Given the description of an element on the screen output the (x, y) to click on. 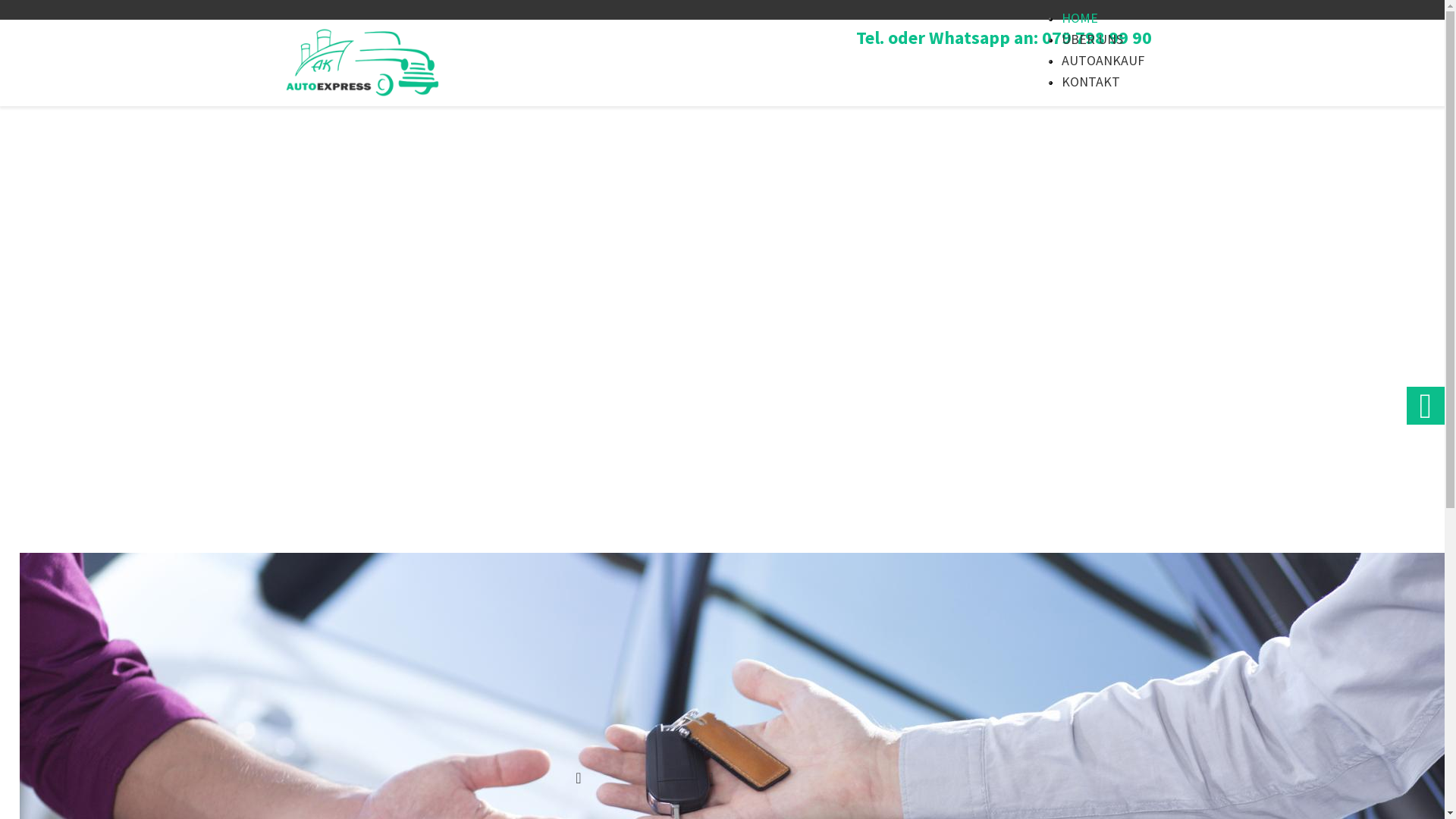
079 798 99 90 Element type: text (634, 777)
AUTOANKAUF Element type: text (1102, 60)
KONTAKT Element type: text (1090, 81)
info@ak-autoexpress.ch Element type: text (798, 777)
HOME Element type: text (1079, 17)
